Given the description of an element on the screen output the (x, y) to click on. 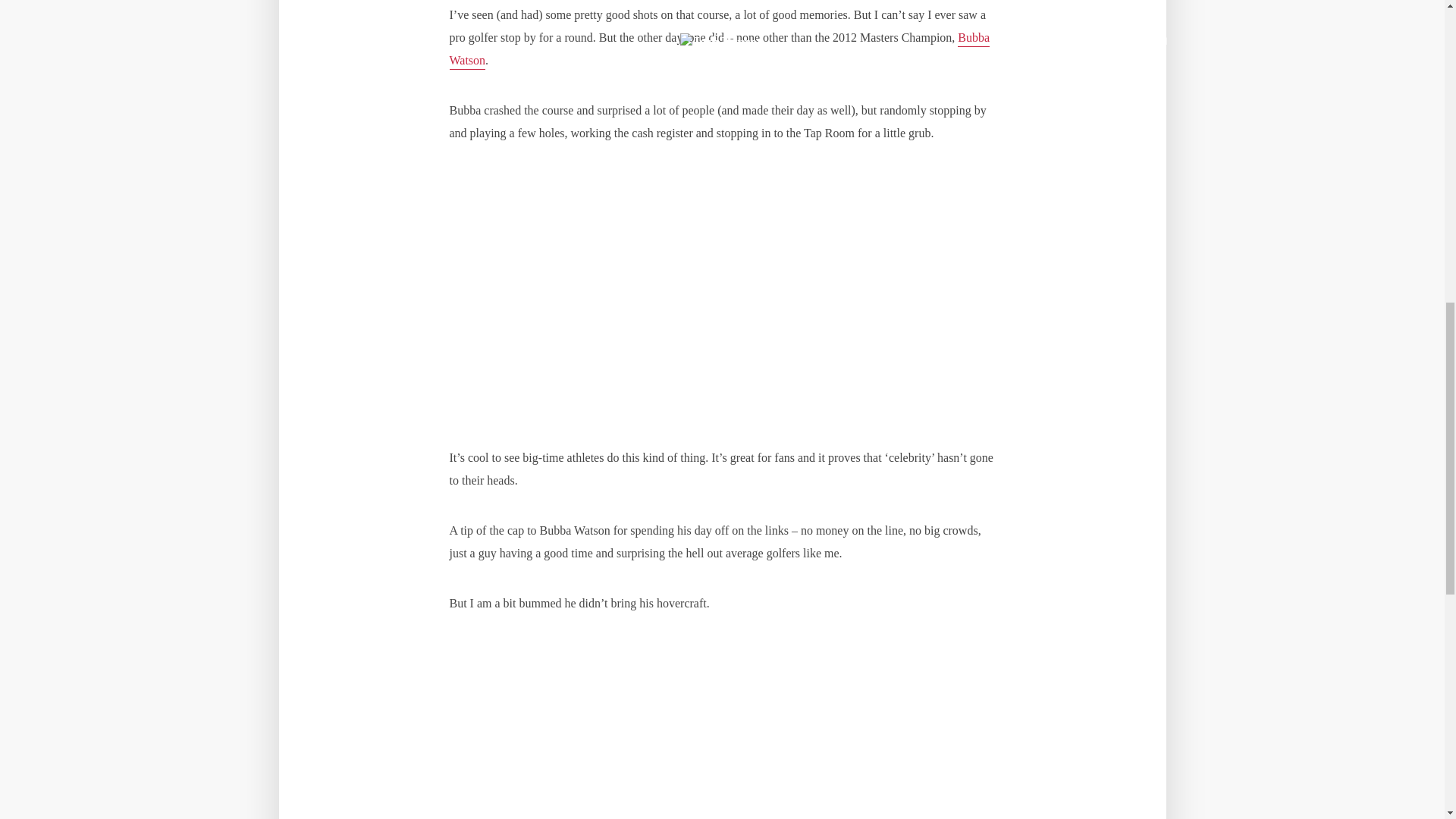
Bubba Watson Golf (719, 50)
Bubba Watson (719, 50)
